Given the description of an element on the screen output the (x, y) to click on. 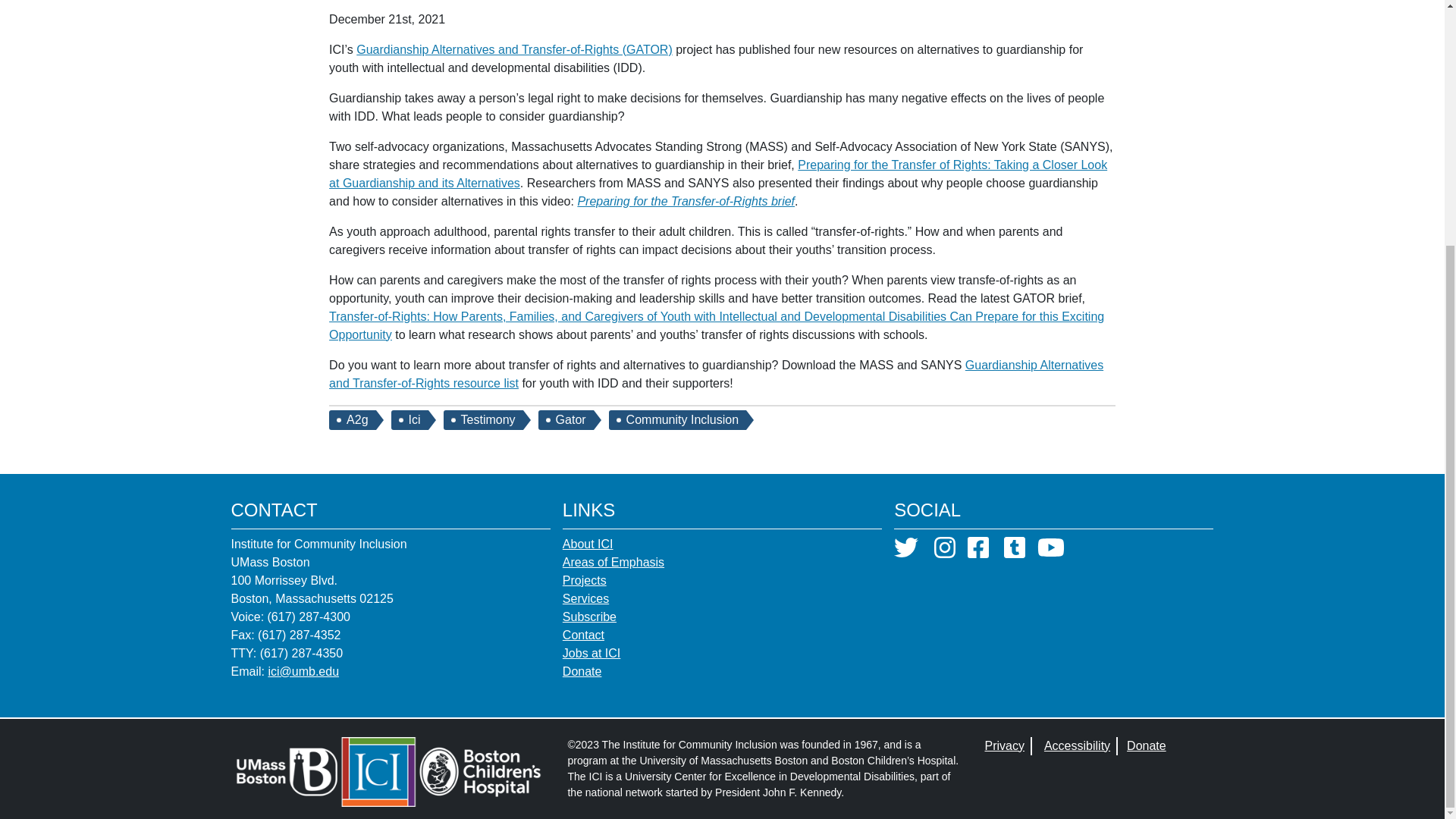
Accessibility (1076, 745)
Community Inclusion Twitter (905, 552)
Services (585, 598)
Community Inclusion Facebook (978, 552)
Privacy (1003, 745)
Subscribe (588, 617)
Community Inclusion Instagram (944, 552)
About (587, 543)
Projects (584, 580)
Donate (1146, 745)
